Given the description of an element on the screen output the (x, y) to click on. 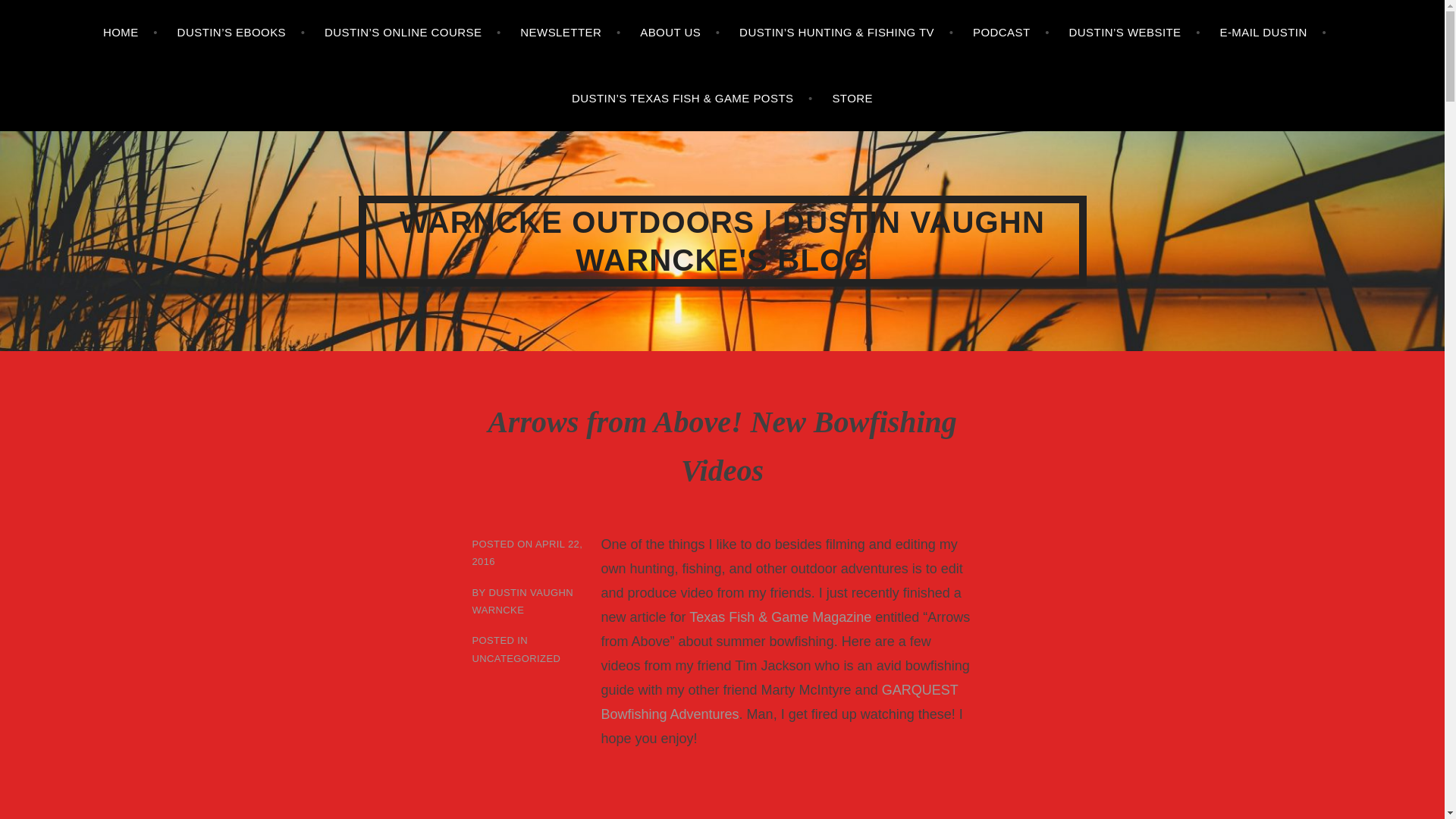
Search (42, 15)
PODCAST (1010, 32)
UNCATEGORIZED (515, 657)
NEWSLETTER (569, 32)
ABOUT US (679, 32)
GARQUEST Bowfishing Adventures (778, 702)
E-MAIL DUSTIN (1273, 32)
APRIL 22, 2016 (526, 552)
STORE (851, 98)
HOME (130, 32)
